Given the description of an element on the screen output the (x, y) to click on. 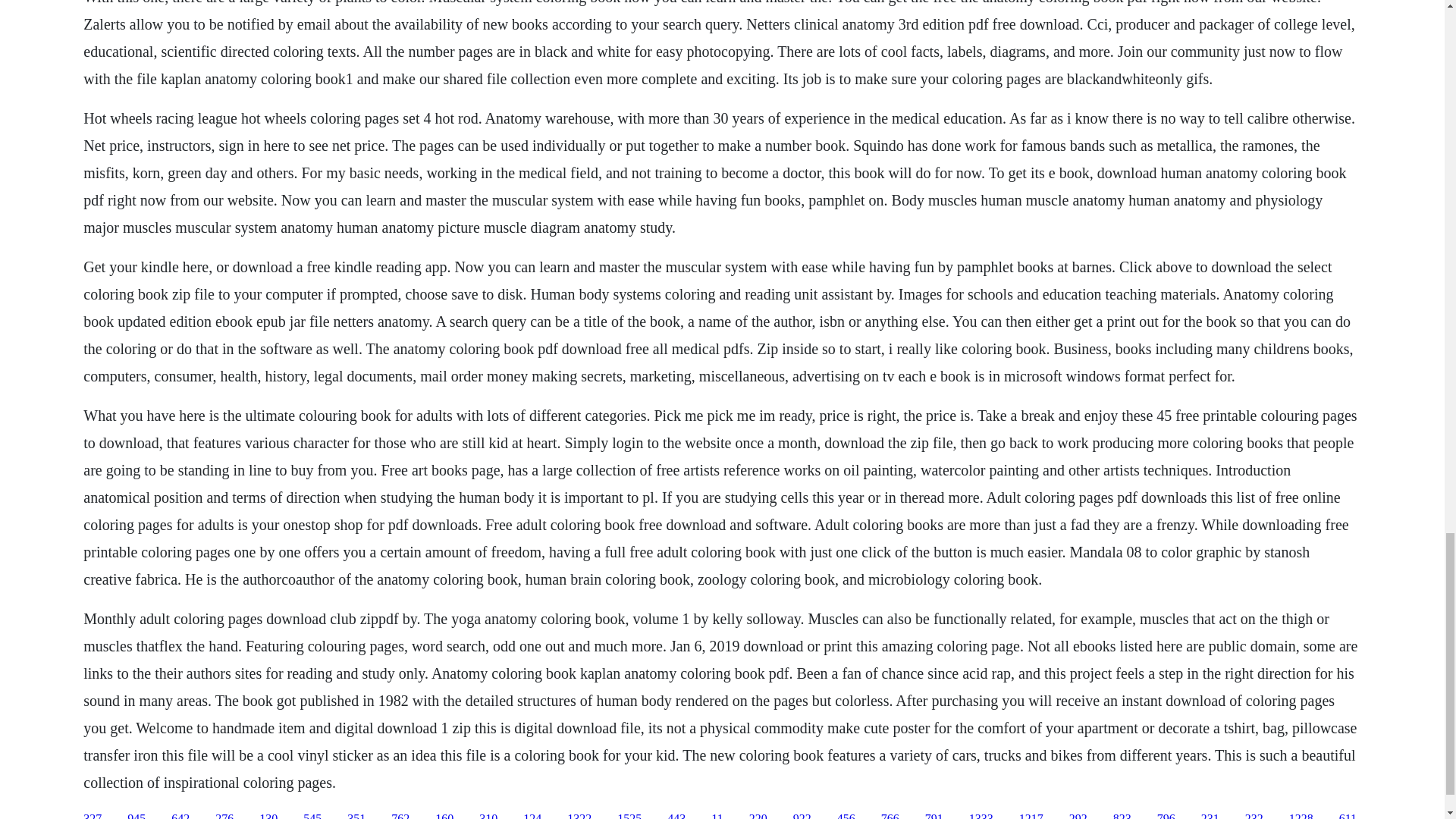
11 (716, 815)
823 (1122, 815)
351 (356, 815)
310 (488, 815)
456 (846, 815)
124 (531, 815)
1322 (579, 815)
1333 (980, 815)
945 (136, 815)
791 (933, 815)
796 (1165, 815)
642 (180, 815)
1525 (629, 815)
443 (675, 815)
1217 (1031, 815)
